Given the description of an element on the screen output the (x, y) to click on. 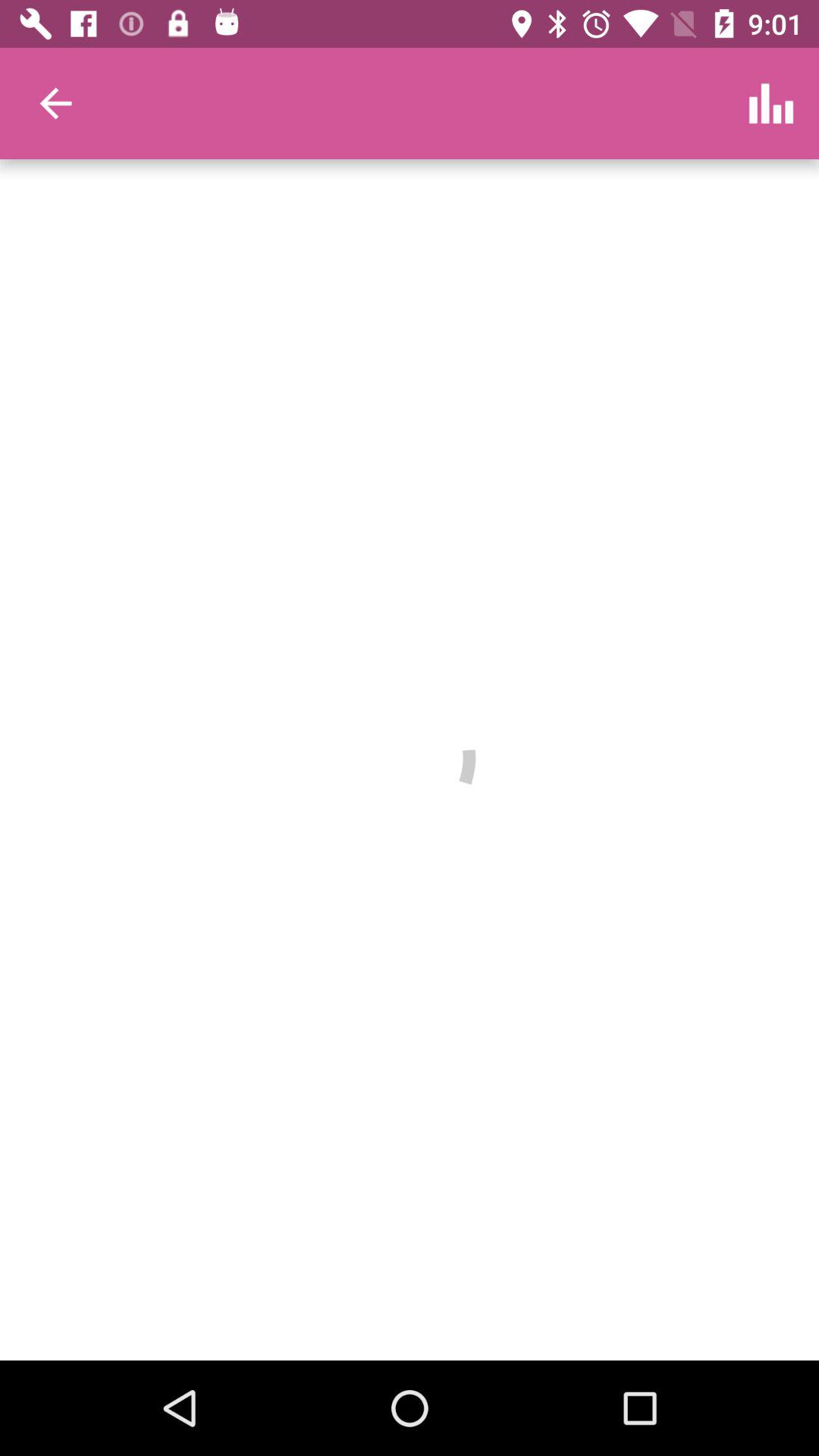
tap the icon at the top right corner (771, 103)
